Given the description of an element on the screen output the (x, y) to click on. 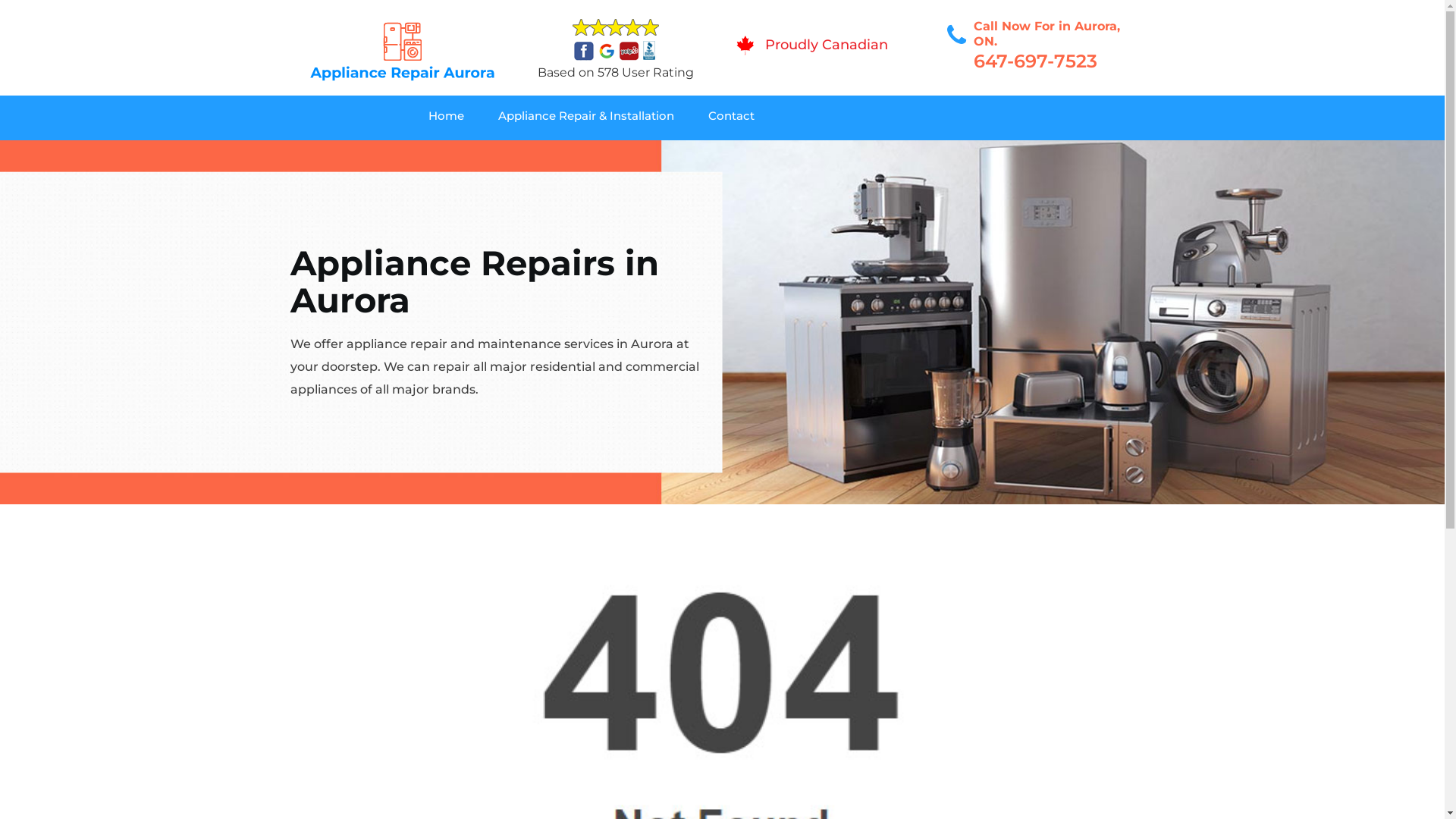
Kitchen Appliances Repair Element type: text (549, 154)
Oven Repair Element type: text (761, 154)
Range Repair Element type: text (518, 154)
Freezer Installation Element type: text (1026, 154)
Gas Stove Repair Element type: text (771, 154)
Appliance Repair & Installation Element type: text (603, 117)
Residential Appliance Repair Element type: text (566, 154)
Freezer Repair Element type: text (510, 154)
Commercial Appliances Repair Element type: text (554, 154)
Commercial Appliances Installation Element type: text (825, 154)
Residential Appliance Installation Element type: text (1056, 154)
Kitchen Appliance Installation Element type: text (1048, 154)
Microwave Installation Element type: text (781, 154)
Range Installation Element type: text (1025, 154)
647-697-7523 Element type: text (1035, 61)
Contact Element type: text (748, 117)
Washing Machine Installation Element type: text (800, 154)
Stove Repair Element type: text (520, 154)
Dryer Installation Element type: text (1027, 154)
Home Element type: text (463, 117)
Dryer Repair Element type: text (510, 154)
Refrigerator Repair Element type: text (785, 154)
Oven Elements Replacement Element type: text (555, 154)
Oven Installation Element type: text (1016, 154)
Microwave Repair Element type: text (780, 154)
Stove Installation Element type: text (1013, 154)
Gas Stove Installation Element type: text (773, 154)
Washing Machine Repair Element type: text (550, 154)
Refrigerator Installation Element type: text (1043, 154)
Dishwasher Installation Element type: text (776, 154)
Dishwasher Repair Element type: text (516, 154)
Appliances Installation Element type: text (785, 154)
Oven Element Installation Element type: text (1042, 154)
